Given the description of an element on the screen output the (x, y) to click on. 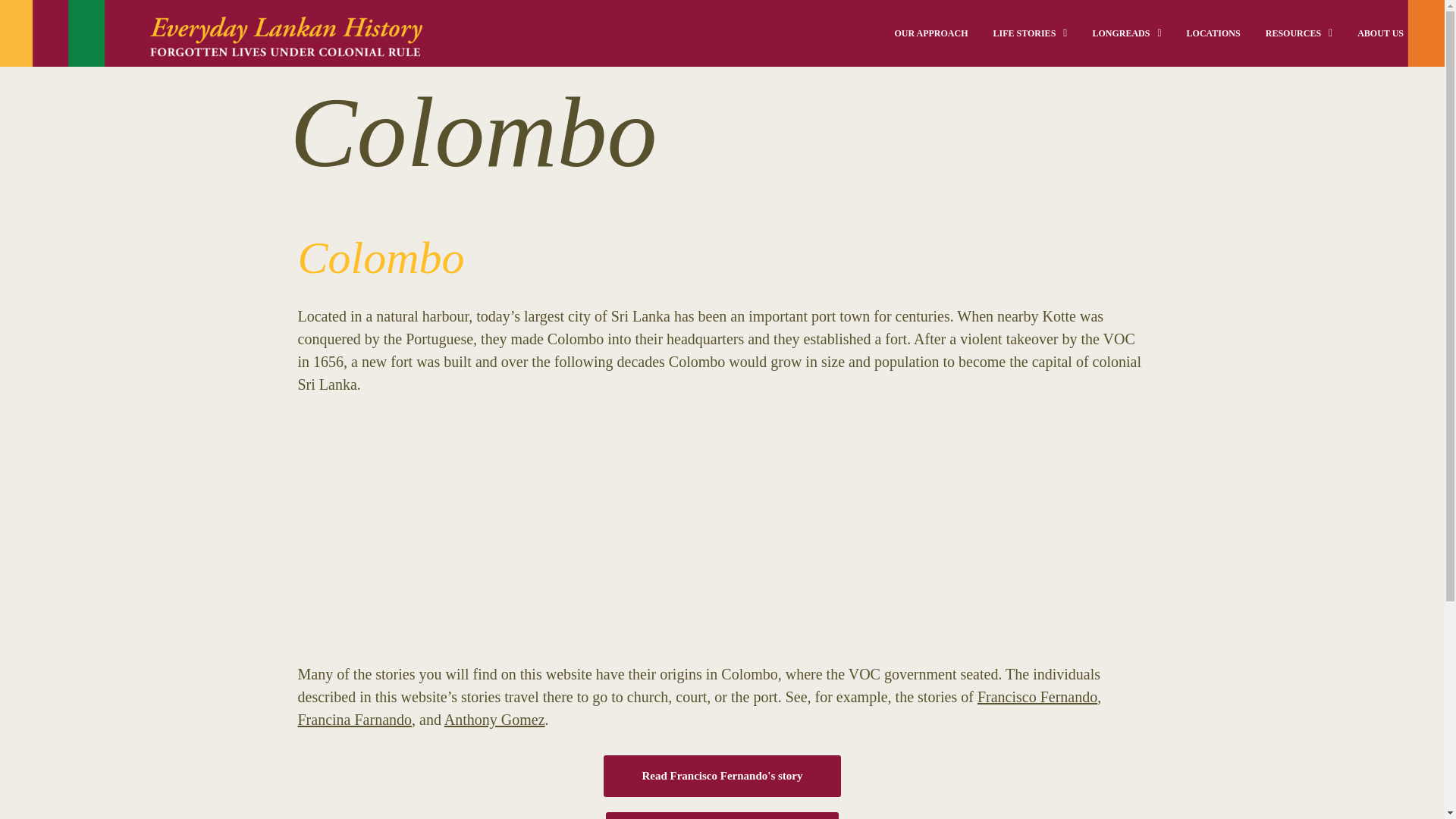
Read Francisco Fernando's story (722, 775)
OUR APPROACH (930, 33)
LONGREADS (1126, 33)
RESOURCES (1298, 33)
ABOUT US (1379, 33)
LOCATIONS (1213, 33)
LIFE STORIES (1029, 33)
Read Francina Fernando's story (722, 815)
